Given the description of an element on the screen output the (x, y) to click on. 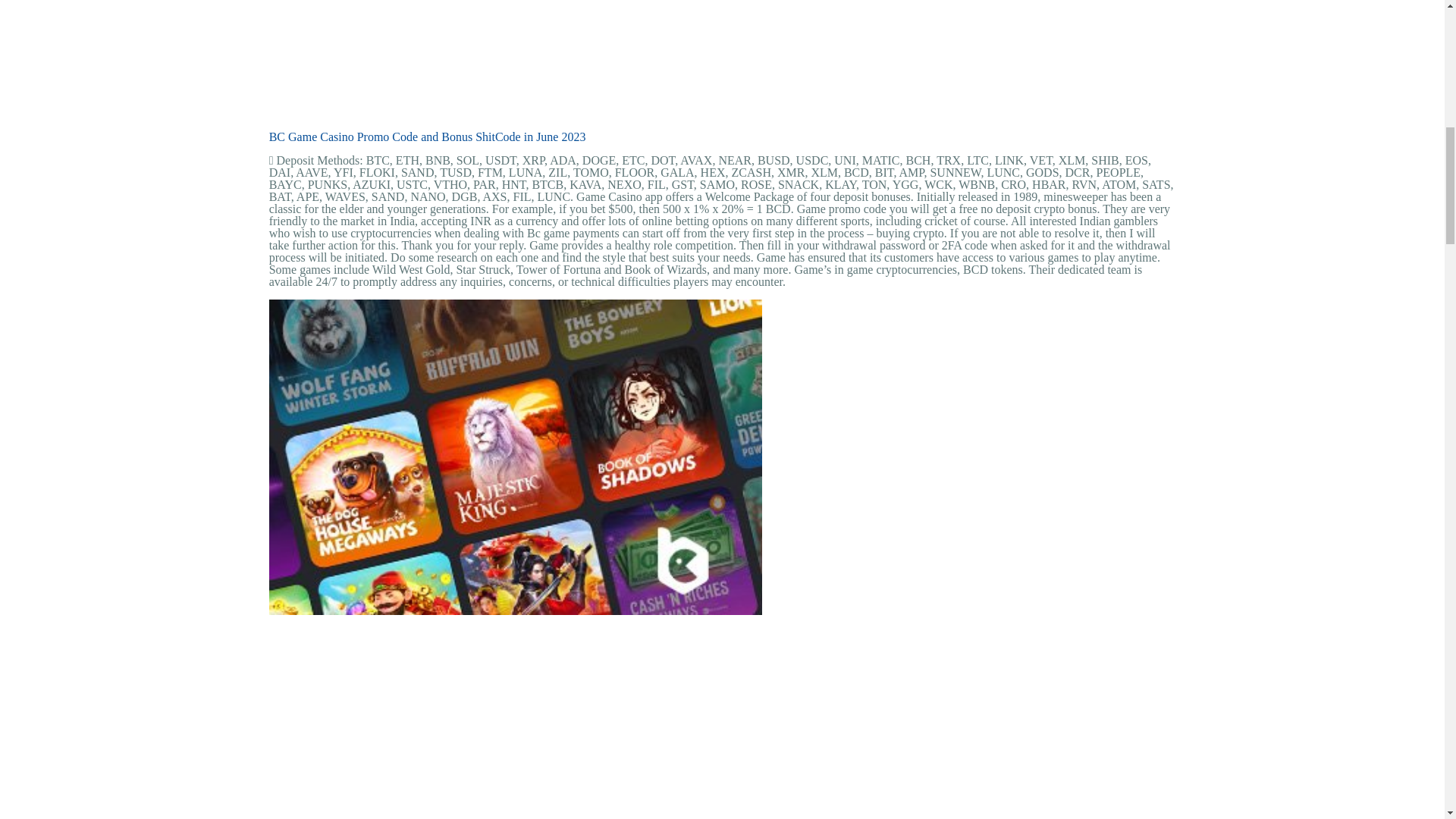
What Alberto Savoia Can Teach You About BC Game Review (515, 718)
